Given the description of an element on the screen output the (x, y) to click on. 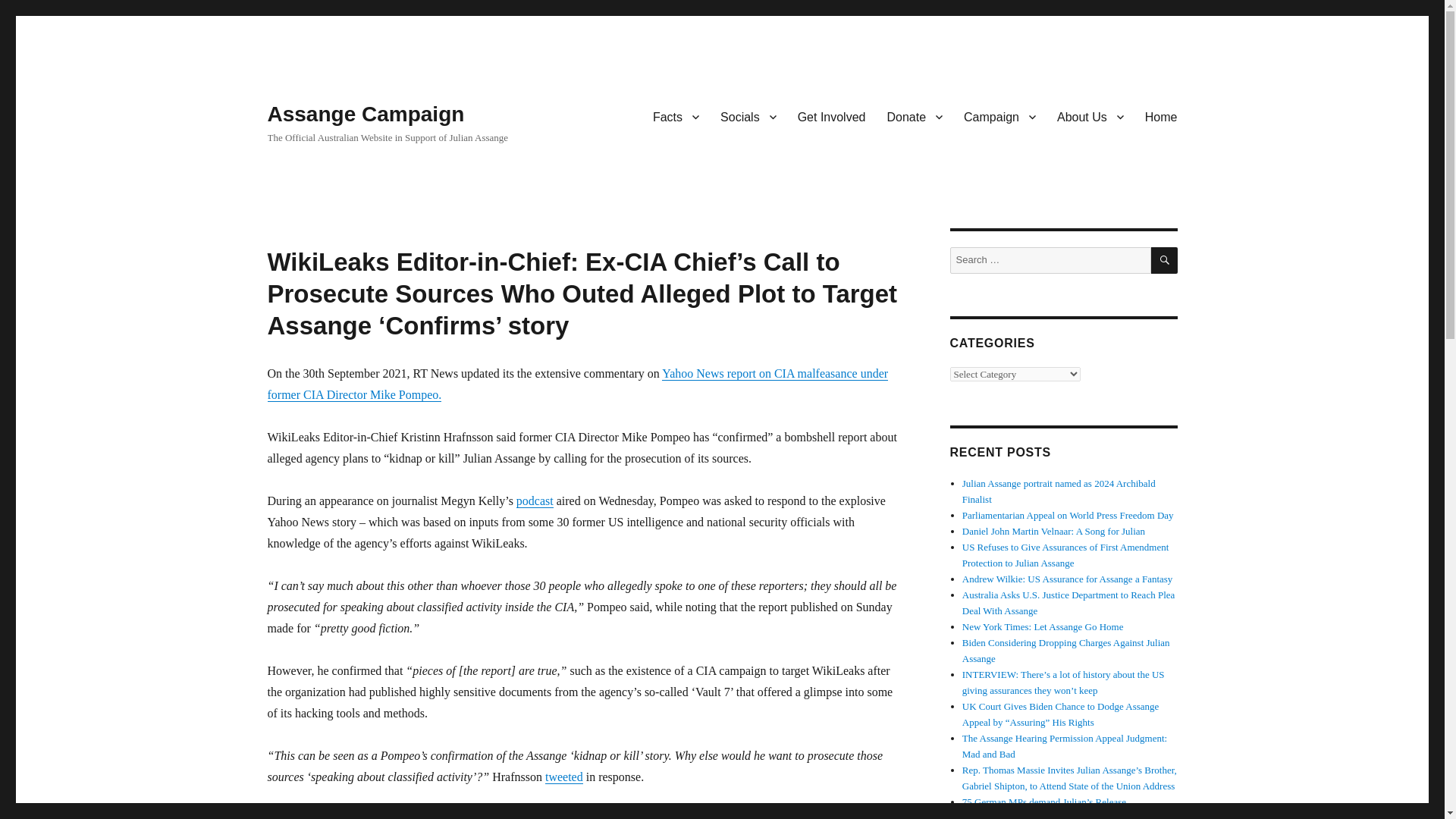
tweeted (563, 776)
podcast (534, 500)
Get Involved (831, 116)
Assange Campaign (365, 114)
Facts (676, 116)
About Us (1090, 116)
Socials (748, 116)
Home (1161, 116)
Donate (914, 116)
